Given the description of an element on the screen output the (x, y) to click on. 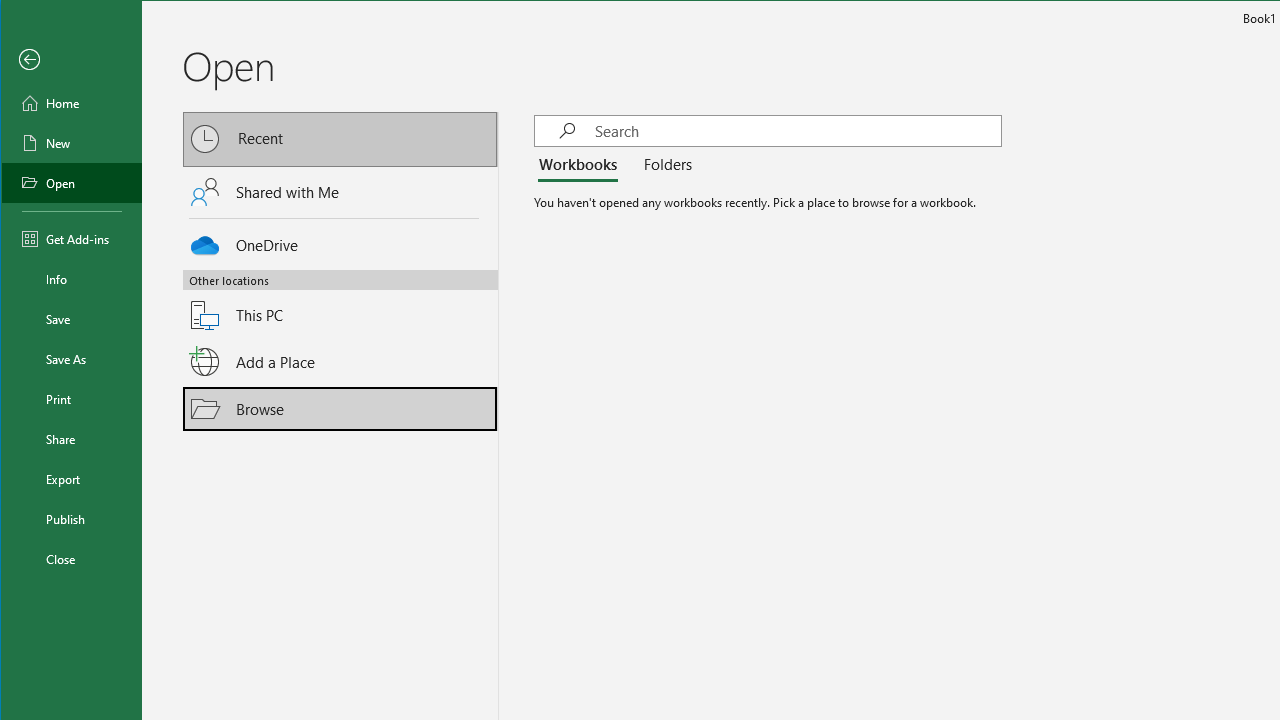
Folders (663, 165)
Get Add-ins (72, 238)
Back (72, 60)
New (72, 142)
Save As (72, 358)
Info (72, 278)
